Given the description of an element on the screen output the (x, y) to click on. 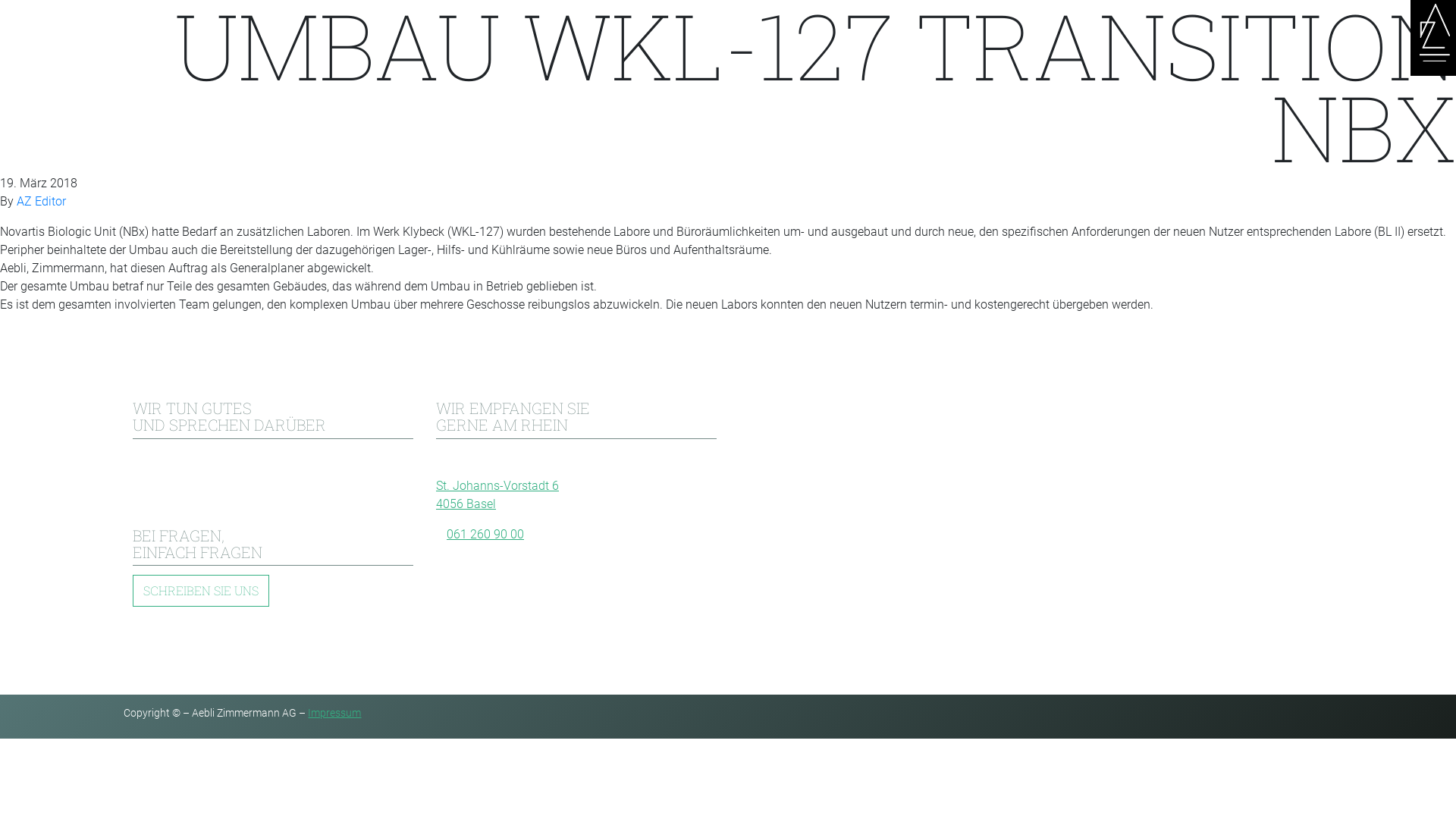
061 260 90 00 Element type: text (485, 534)
AZ Editor Element type: text (40, 201)
St. Johanns-Vorstadt 6
4056 Basel Element type: text (497, 494)
Impressum Element type: text (333, 712)
SCHREIBEN SIE UNS Element type: text (200, 590)
